Given the description of an element on the screen output the (x, y) to click on. 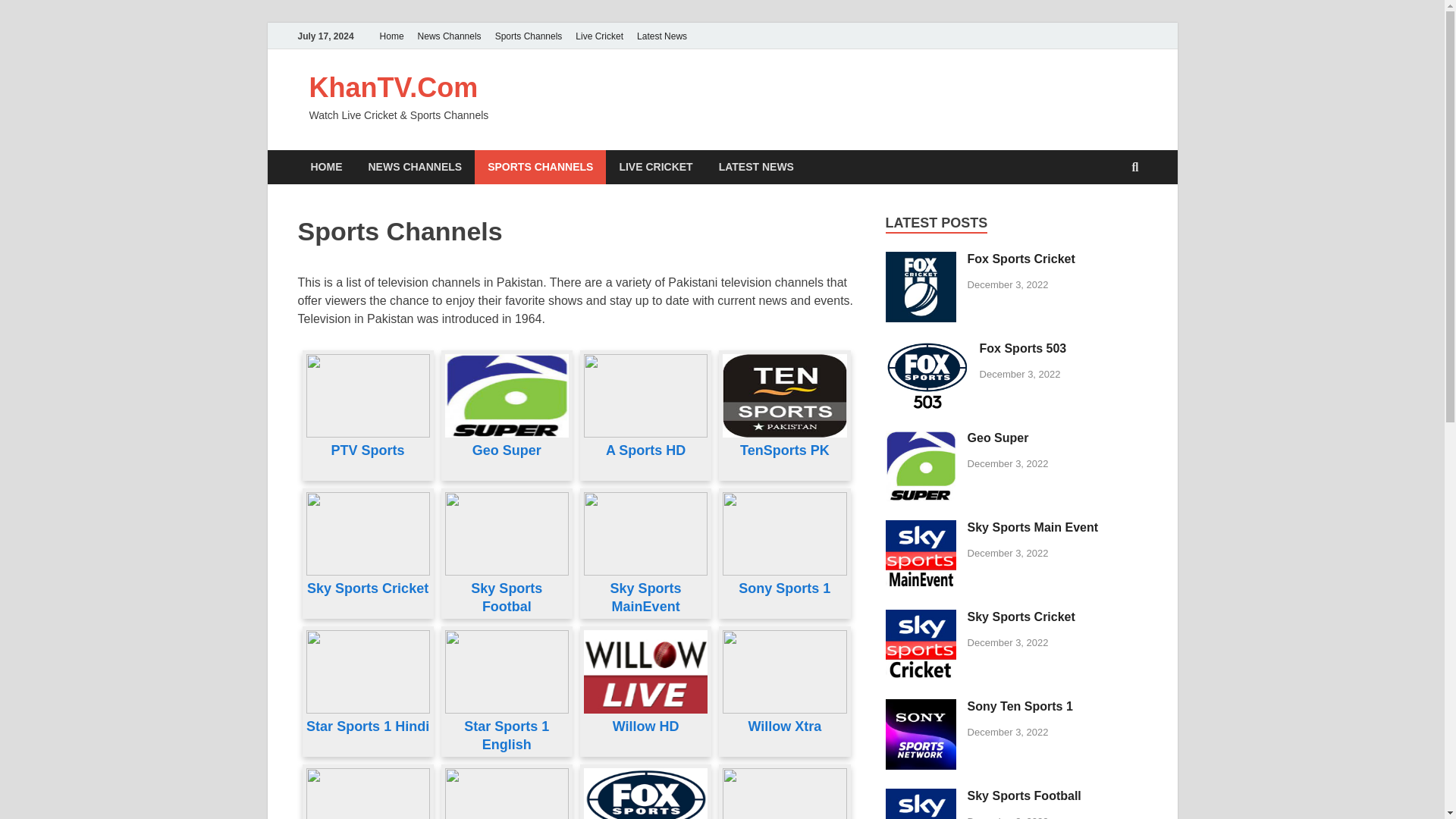
Sony Ten Sports 1 (920, 707)
Sony Sports 1 (783, 580)
Star Sports 1 English (507, 726)
Geo Super (920, 439)
NEWS CHANNELS (414, 166)
A Sports HD (645, 441)
Sky Sports MainEvent (645, 589)
Sports Channels (528, 35)
Sky Sports Cricket (367, 580)
LATEST NEWS (756, 166)
Fox Sports Cricket (920, 259)
Home (391, 35)
News Channels (448, 35)
Geo Super (507, 441)
SPORTS CHANNELS (539, 166)
